Given the description of an element on the screen output the (x, y) to click on. 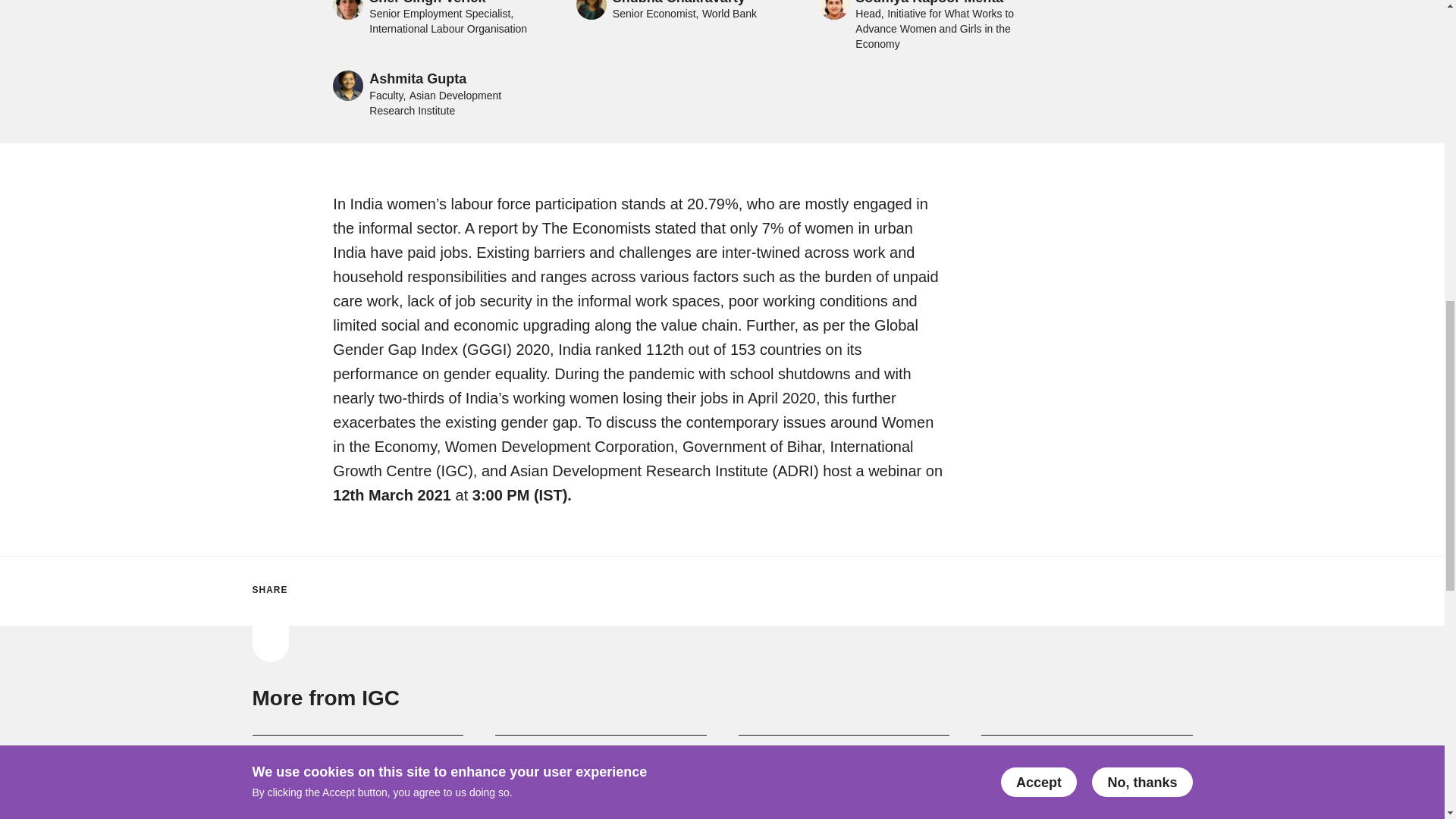
Share on Facebook (340, 590)
BREAD-IGC Virtual PhD course on urban economics (600, 783)
IGC-EGC Firms, Trade, and Development Conference 2024 (357, 783)
Share on Twitter (309, 590)
Share with Whatsapp (400, 590)
Enabling environment for mini grids webinar (1086, 783)
Share with email (431, 590)
LSE Environment Week 2024 (844, 783)
